Given the description of an element on the screen output the (x, y) to click on. 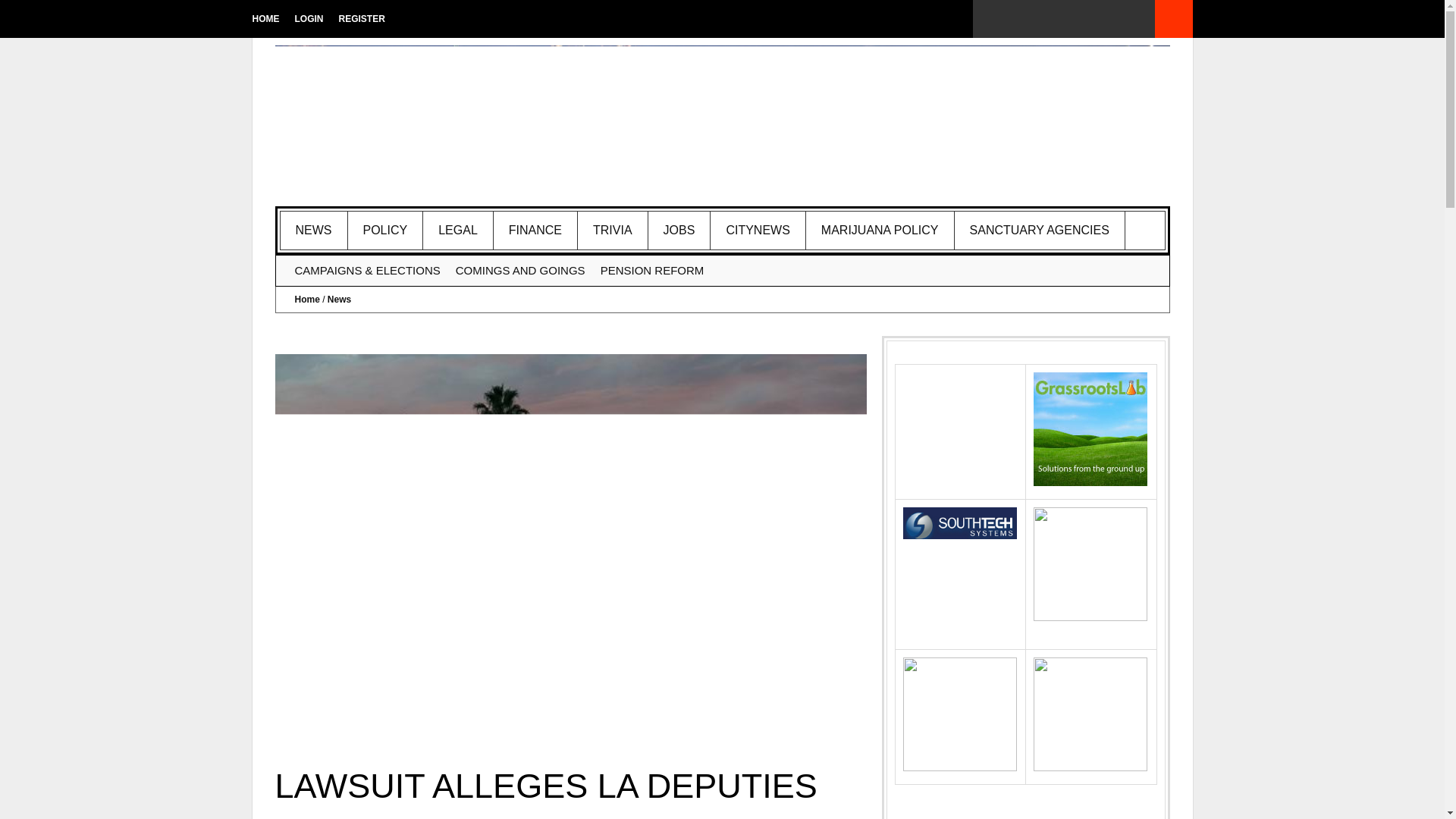
JOBS (679, 230)
POLICY (385, 230)
LEGAL (458, 230)
Legal (458, 230)
Search (1173, 18)
MARIJUANA POLICY (880, 230)
HOME (265, 18)
SANCTUARY AGENCIES (1040, 230)
FINANCE (535, 230)
NEWS (314, 230)
CITYNEWS (757, 230)
PENSION REFORM (651, 270)
REGISTER (360, 18)
News (314, 230)
